Given the description of an element on the screen output the (x, y) to click on. 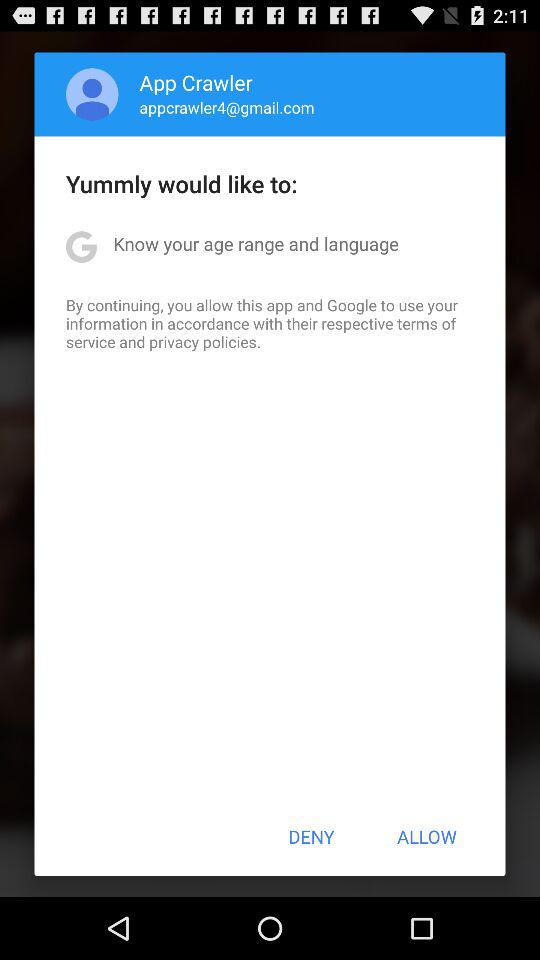
jump to deny icon (311, 836)
